Given the description of an element on the screen output the (x, y) to click on. 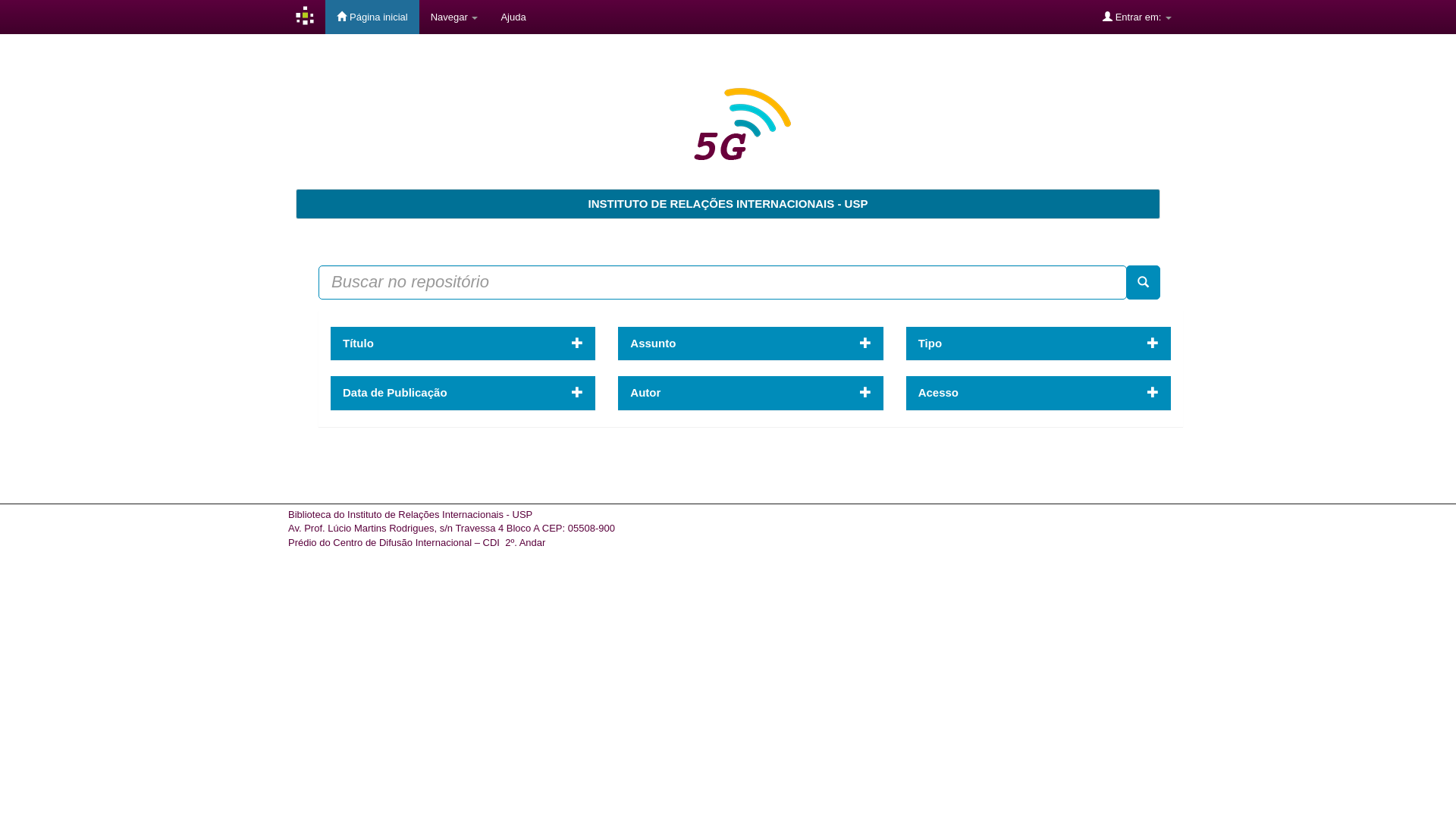
Navegar Element type: text (454, 17)
Entrar em: Element type: text (1137, 17)
Ajuda Element type: text (512, 17)
